Given the description of an element on the screen output the (x, y) to click on. 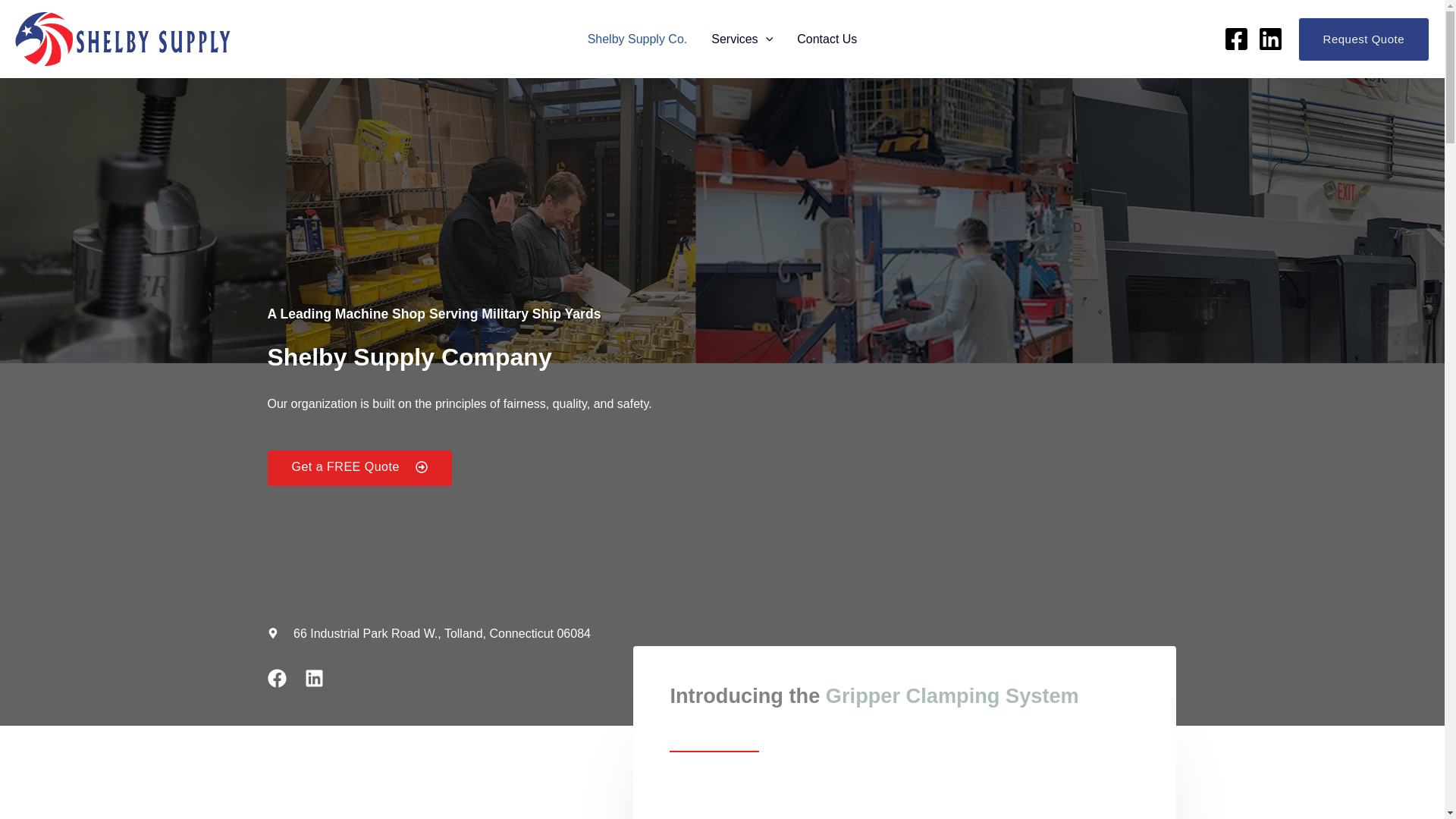
Contact Us (826, 39)
Linkedin (313, 678)
Facebook (275, 678)
Get a FREE Quote (358, 468)
Services (741, 39)
Request Quote (1363, 39)
Shelby Supply Co. (637, 39)
